Given the description of an element on the screen output the (x, y) to click on. 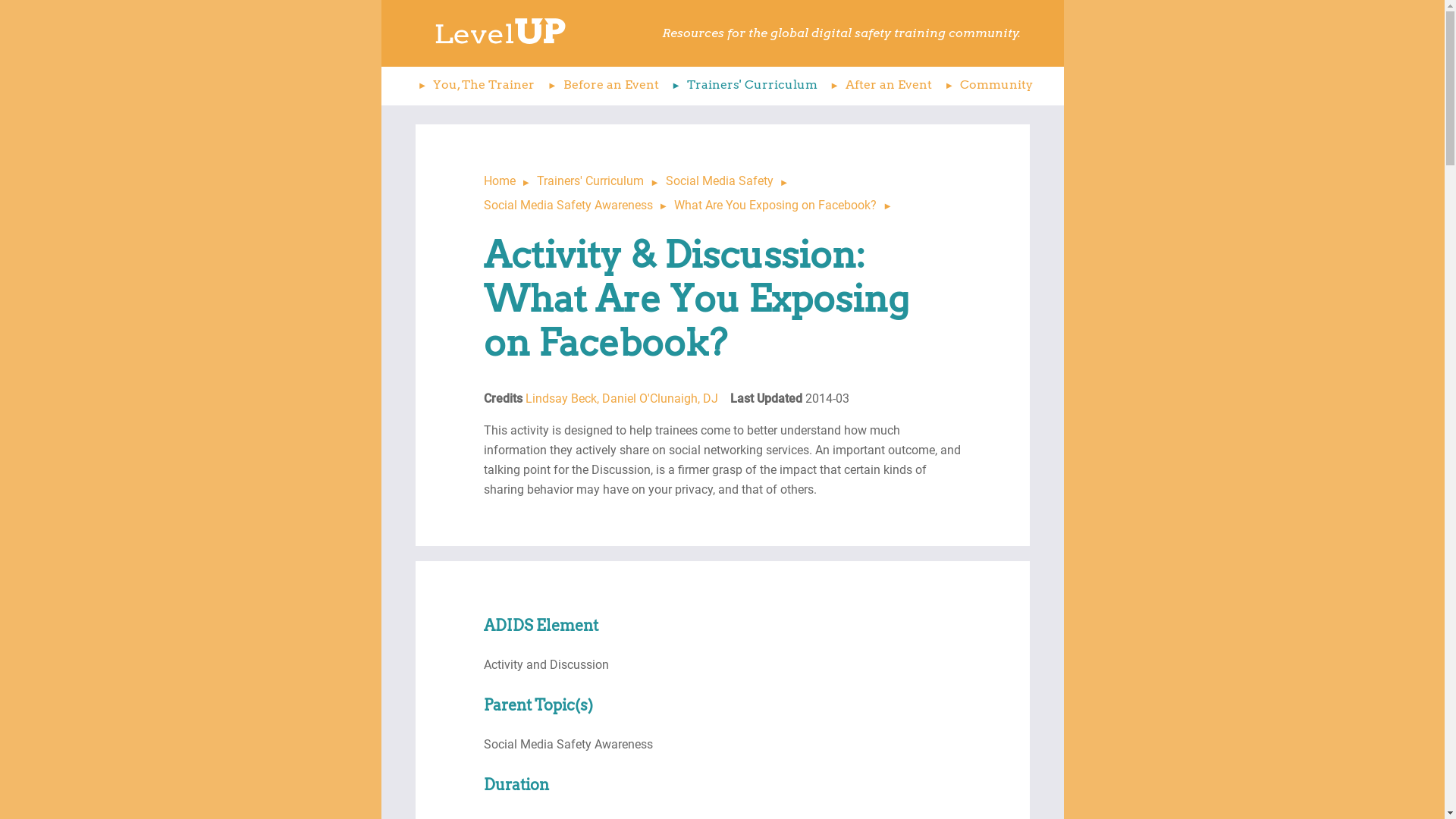
Social Media Safety Element type: text (730, 180)
What Are You Exposing on Facebook? Element type: text (786, 204)
Before an Event Element type: text (599, 85)
Home Element type: text (510, 180)
Community Element type: text (985, 85)
Social Media Safety Awareness Element type: text (578, 204)
After an Event Element type: text (877, 85)
Trainers' Curriculum Element type: text (741, 85)
You, The Trainer Element type: text (473, 85)
Trainers' Curriculum Element type: text (600, 180)
